Given the description of an element on the screen output the (x, y) to click on. 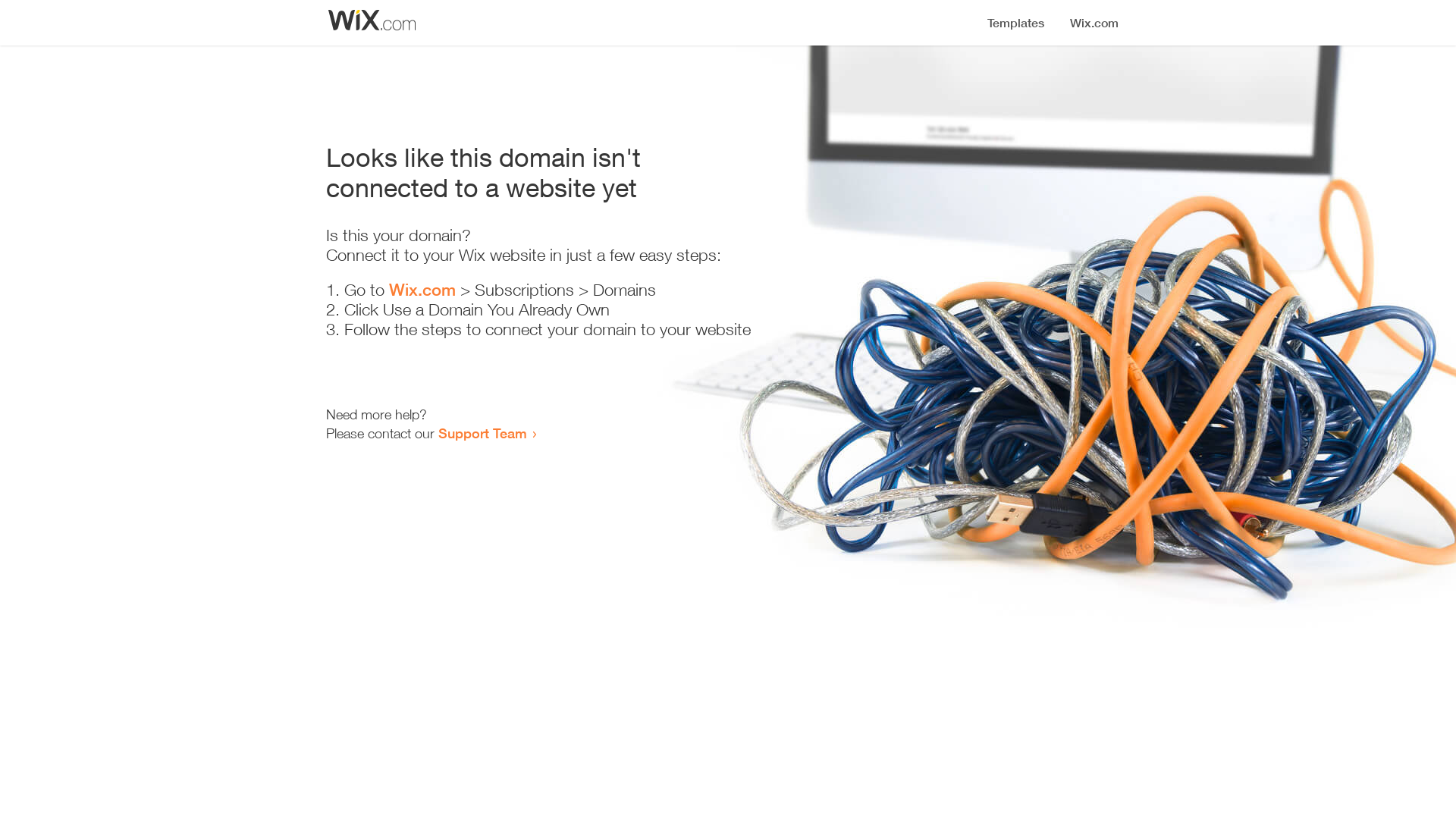
Support Team Element type: text (482, 432)
Wix.com Element type: text (422, 289)
